Given the description of an element on the screen output the (x, y) to click on. 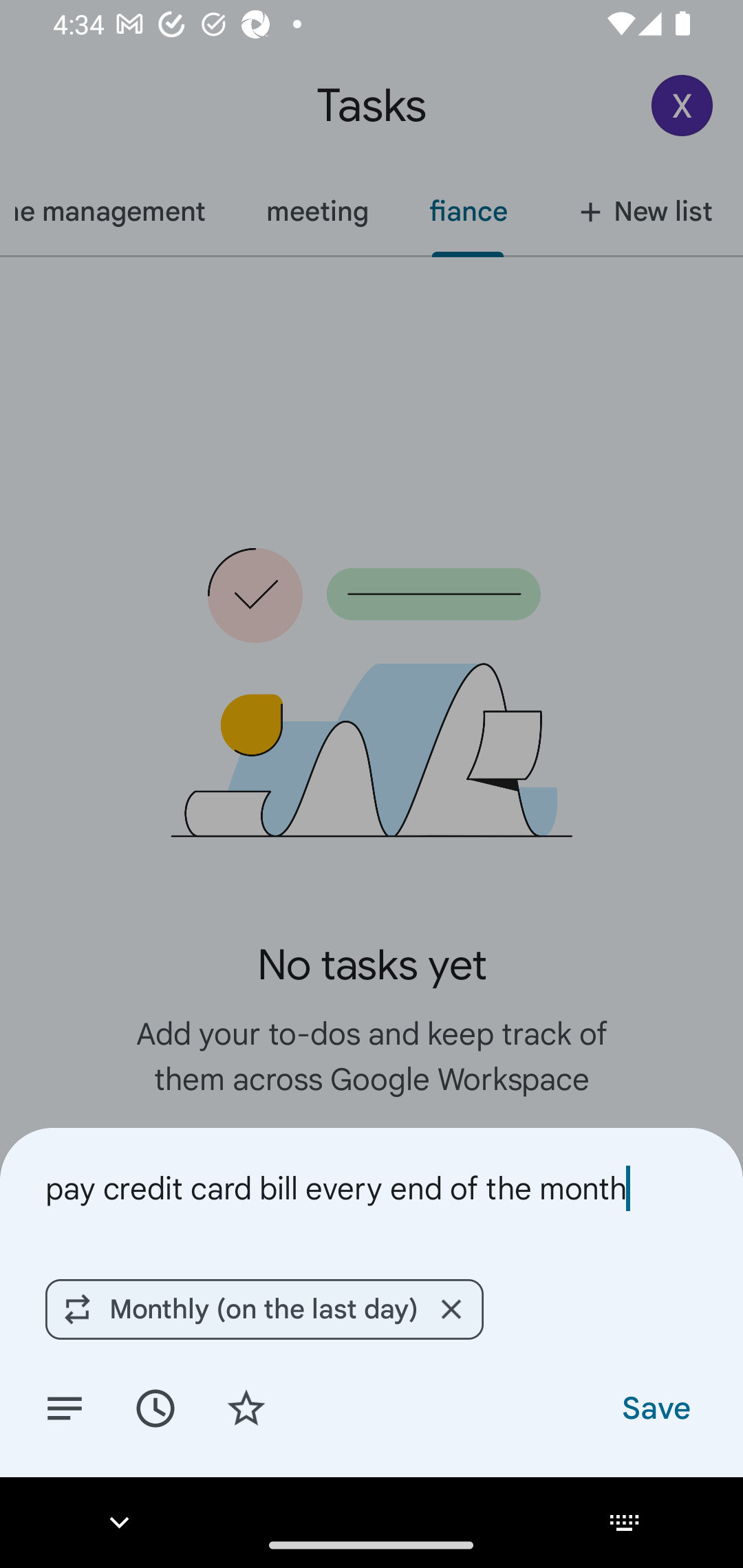
pay credit card bill every end of the month (371, 1188)
Save (655, 1407)
Add details (64, 1407)
Set date/time (154, 1407)
Add star (245, 1407)
